Given the description of an element on the screen output the (x, y) to click on. 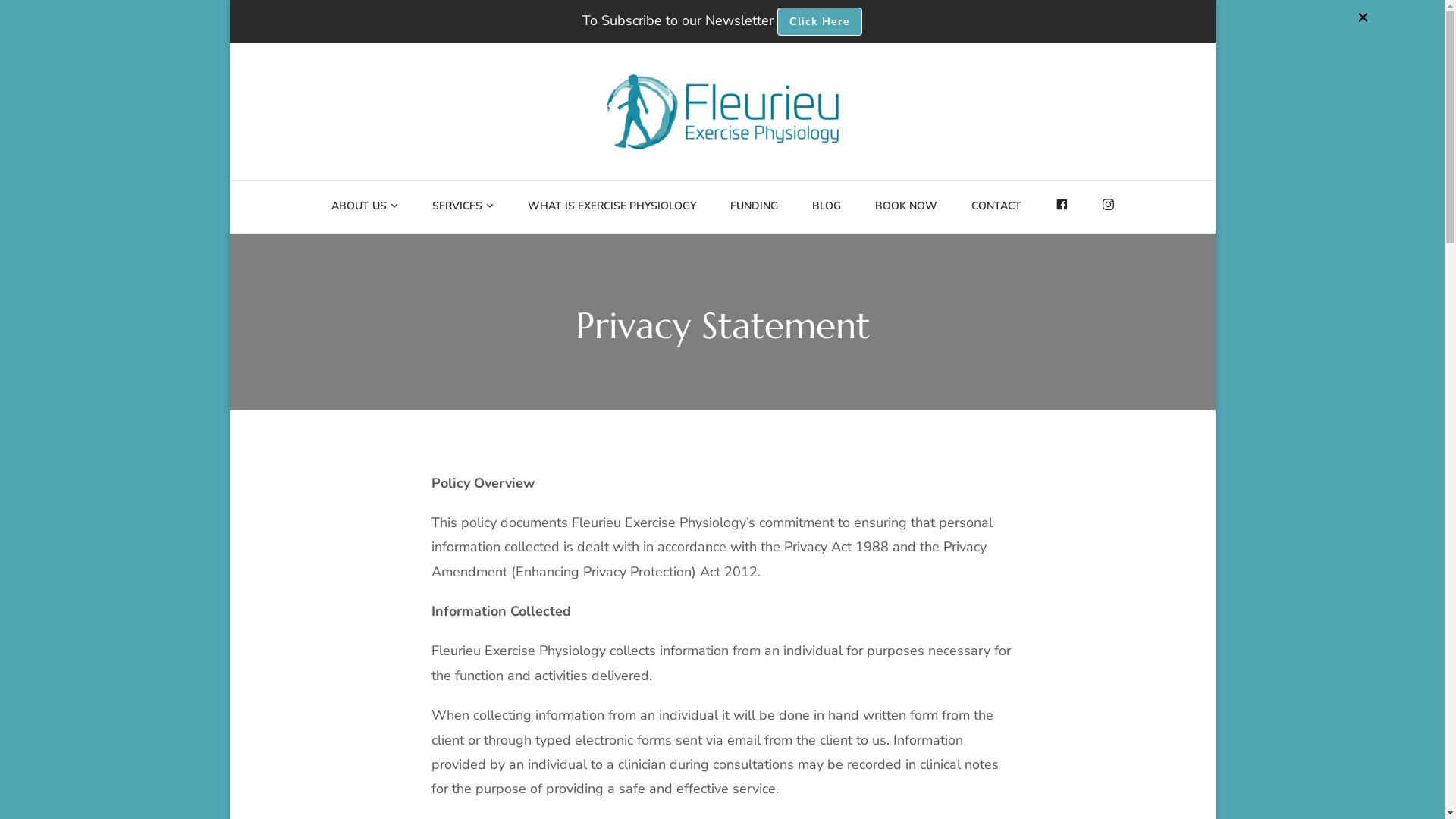
INSTAGRAM Element type: text (1107, 206)
CONTACT Element type: text (996, 206)
FUNDING Element type: text (754, 206)
SERVICES Element type: text (457, 206)
BLOG Element type: text (826, 206)
ABOUT US Element type: text (358, 206)
FACEBOOK Element type: text (1061, 206)
BOOK NOW Element type: text (906, 206)
WHAT IS EXERCISE PHYSIOLOGY Element type: text (611, 206)
Click Here Element type: text (819, 21)
